Given the description of an element on the screen output the (x, y) to click on. 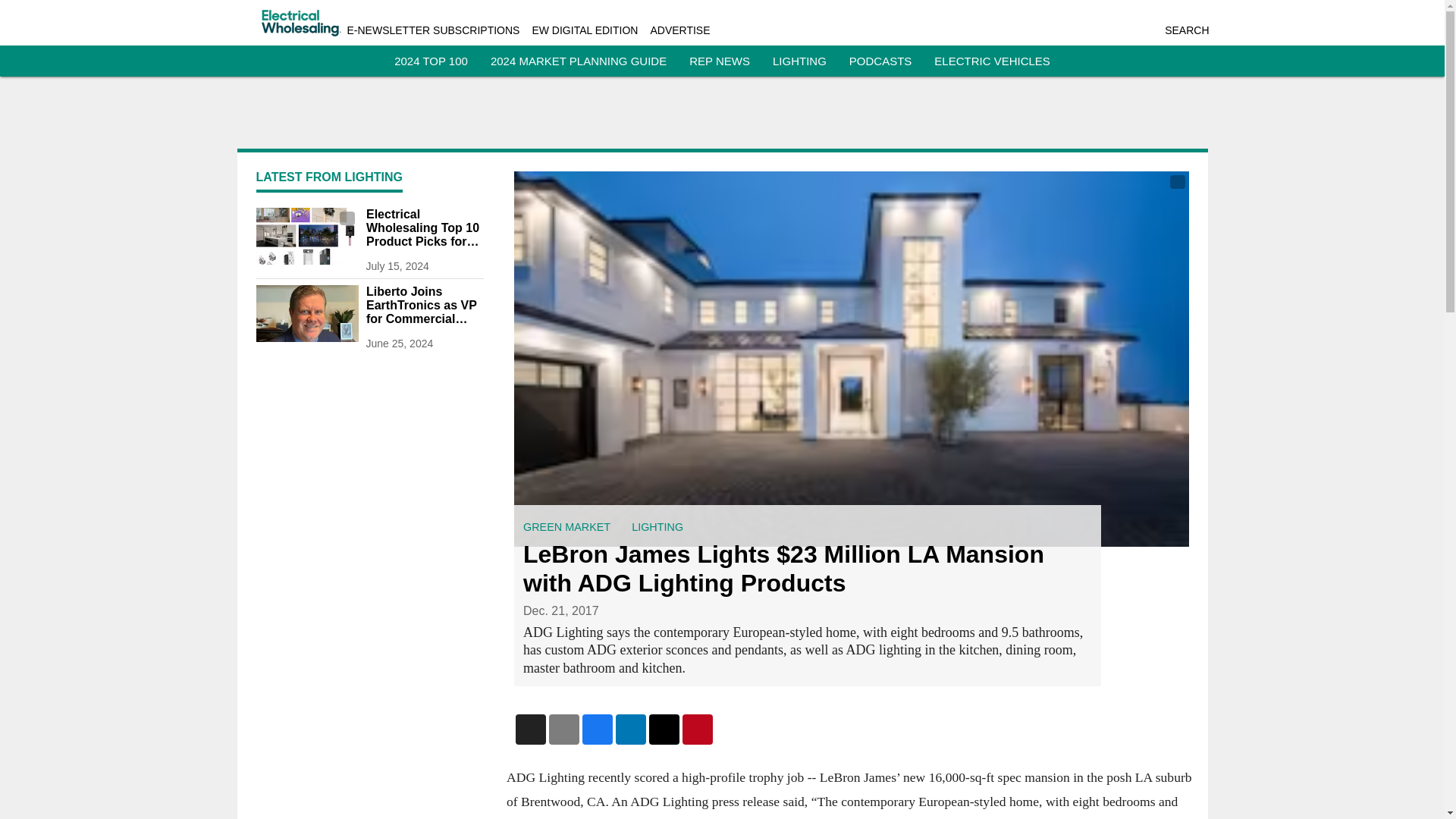
Electrical Wholesaling Top 10 Product Picks for July, 2024 (424, 228)
ADVERTISE (679, 30)
SEARCH (1186, 30)
GREEN MARKET (566, 526)
LIGHTING (656, 526)
PODCASTS (880, 60)
2024 MARKET PLANNING GUIDE (578, 60)
ELECTRIC VEHICLES (991, 60)
LIGHTING (800, 60)
EW DIGITAL EDITION (584, 30)
REP NEWS (718, 60)
2024 TOP 100 (430, 60)
Liberto Joins EarthTronics as VP for Commercial Accounts (424, 305)
E-NEWSLETTER SUBSCRIPTIONS (433, 30)
